Given the description of an element on the screen output the (x, y) to click on. 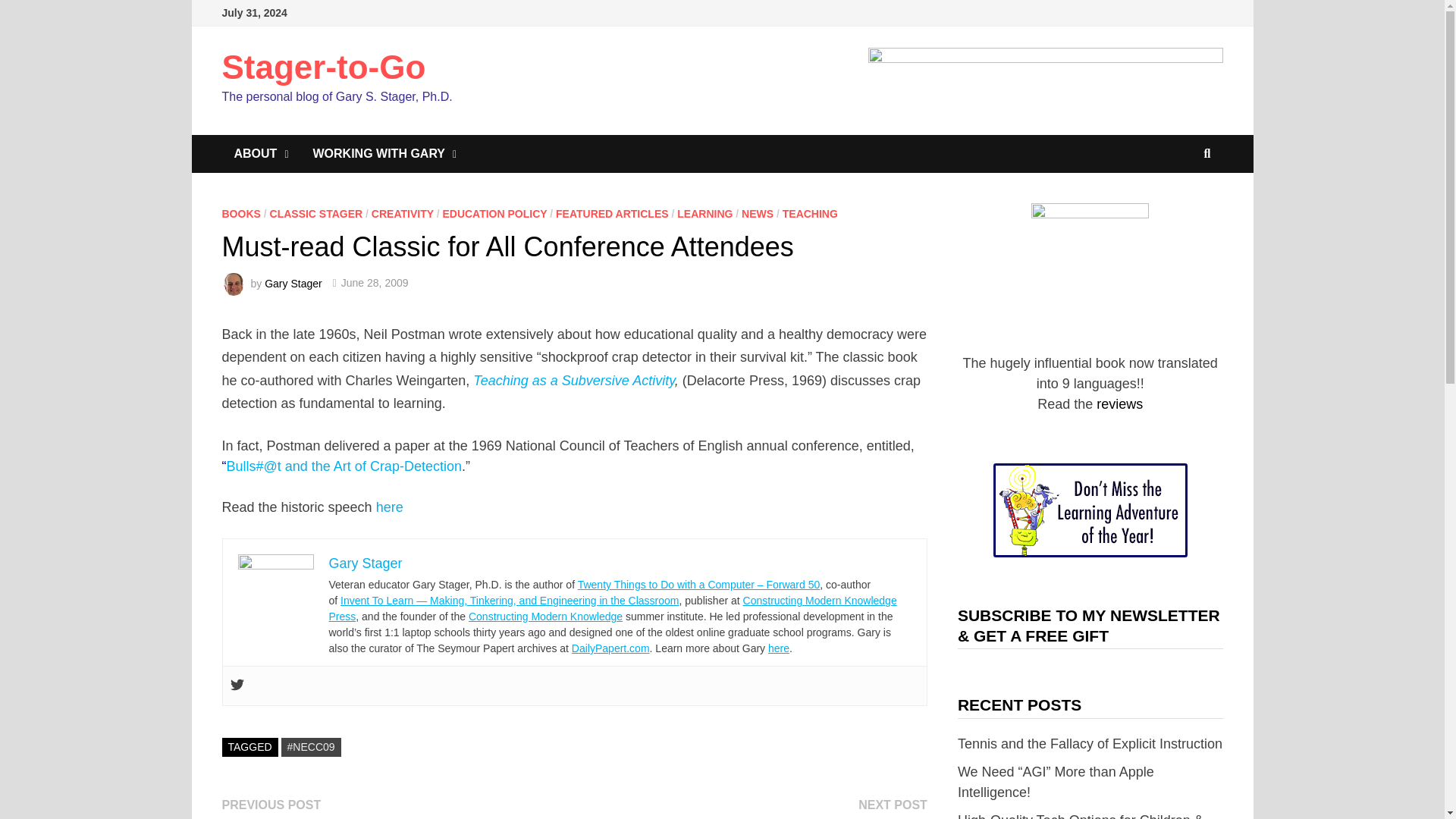
CLASSIC STAGER (315, 214)
CREATIVITY (402, 214)
ABOUT (260, 153)
here (778, 648)
Constructing Modern Knowledge Press (612, 608)
Stager-to-Go (323, 66)
NEWS (757, 214)
Gary Stager (366, 563)
TEACHING (810, 214)
BOOKS (240, 214)
June 28, 2009 (374, 282)
Constructing Modern Knowledge (545, 616)
LEARNING (704, 214)
Daily Papert (610, 648)
here (389, 507)
